Given the description of an element on the screen output the (x, y) to click on. 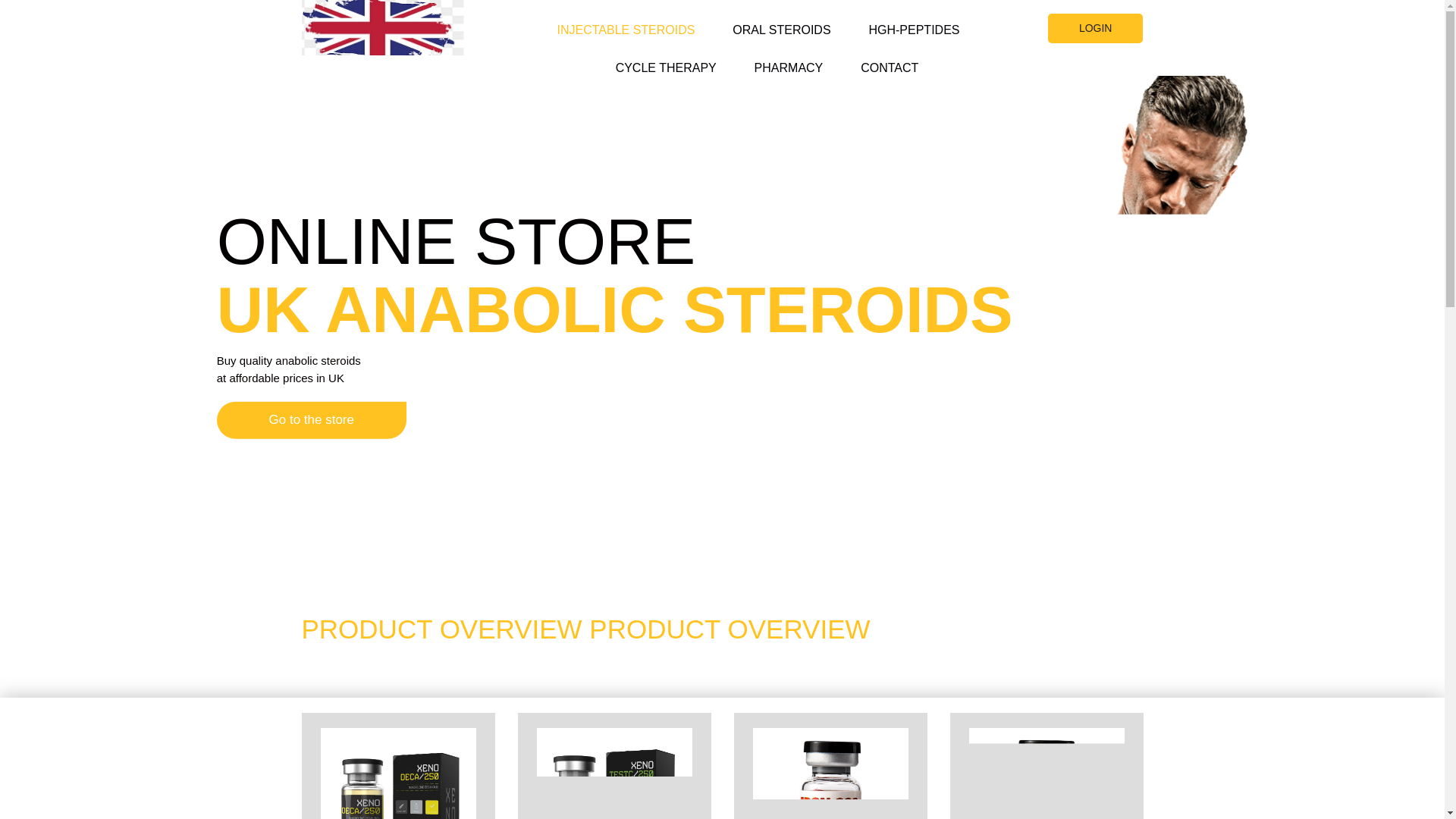
CYCLE THERAPY (665, 56)
HGH-PEPTIDES (913, 18)
ORAL STEROIDS (780, 18)
LOGIN (1095, 28)
Go to the store (311, 420)
CONTACT (880, 56)
INJECTABLE STEROIDS (626, 18)
PHARMACY (788, 56)
